Given the description of an element on the screen output the (x, y) to click on. 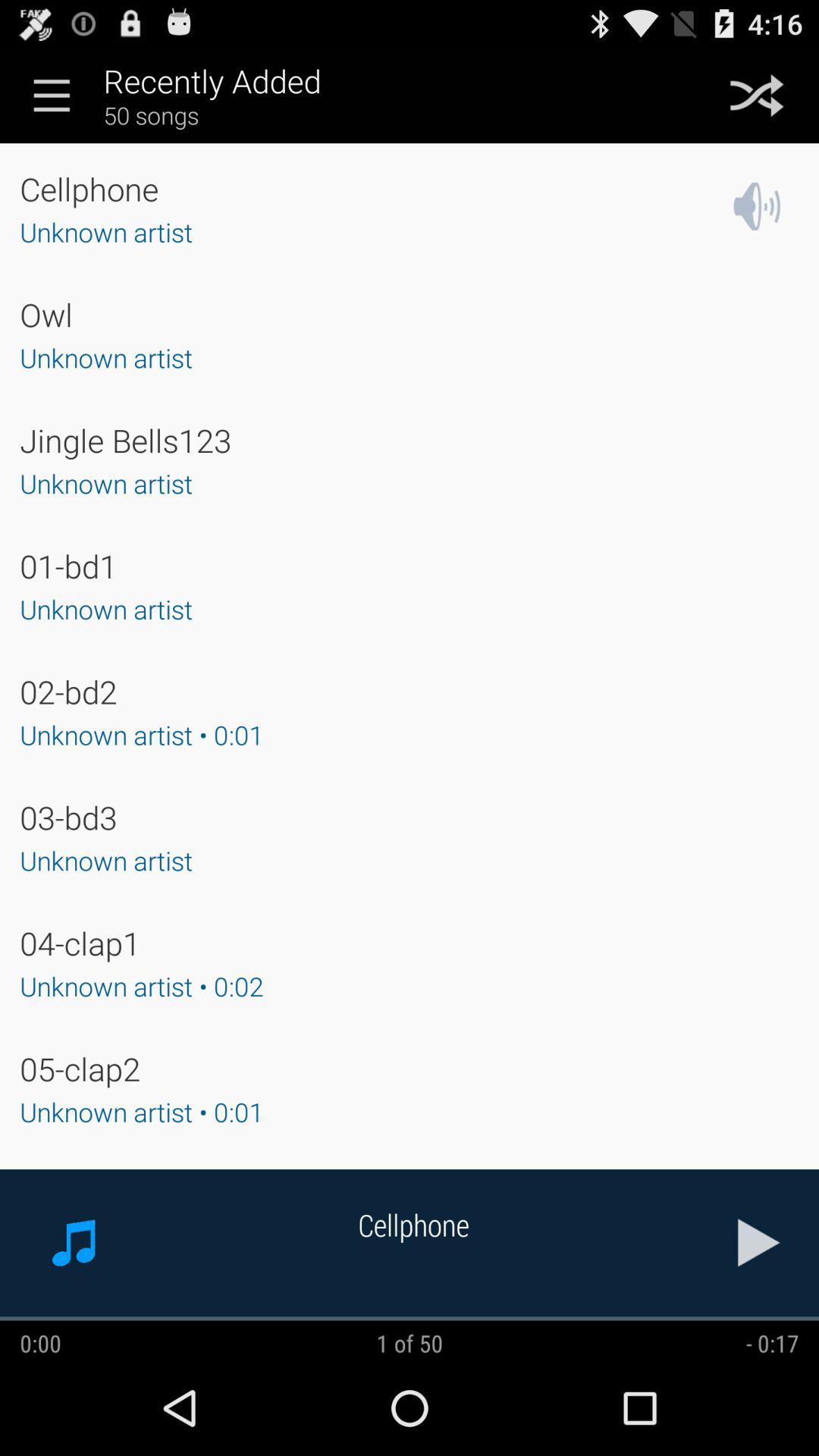
launch the icon to the right of the recently added (756, 95)
